Given the description of an element on the screen output the (x, y) to click on. 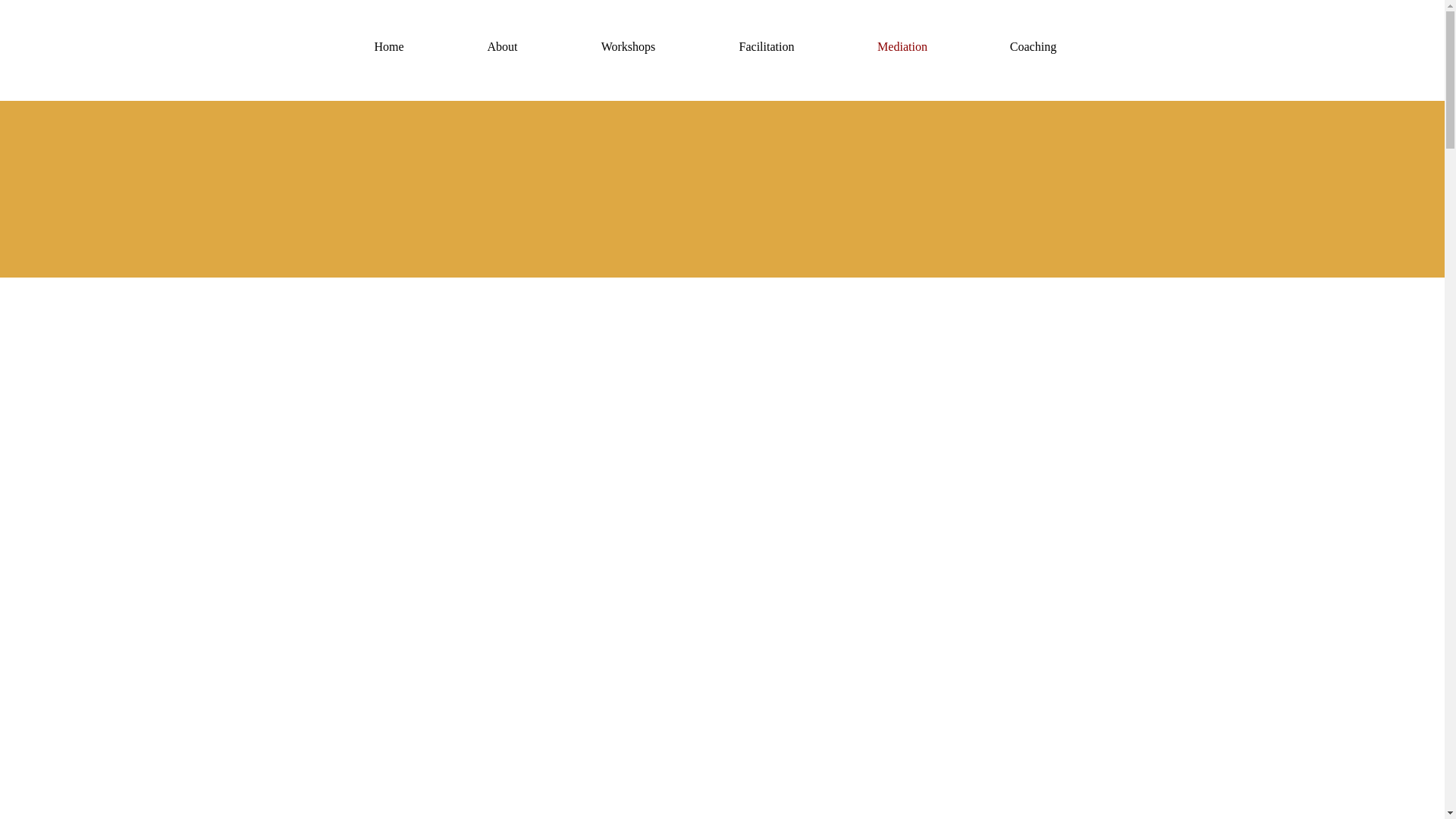
Mediation (900, 46)
Coaching (1032, 46)
Home (388, 46)
About (502, 46)
Facilitation (763, 46)
Workshops (625, 46)
